Given the description of an element on the screen output the (x, y) to click on. 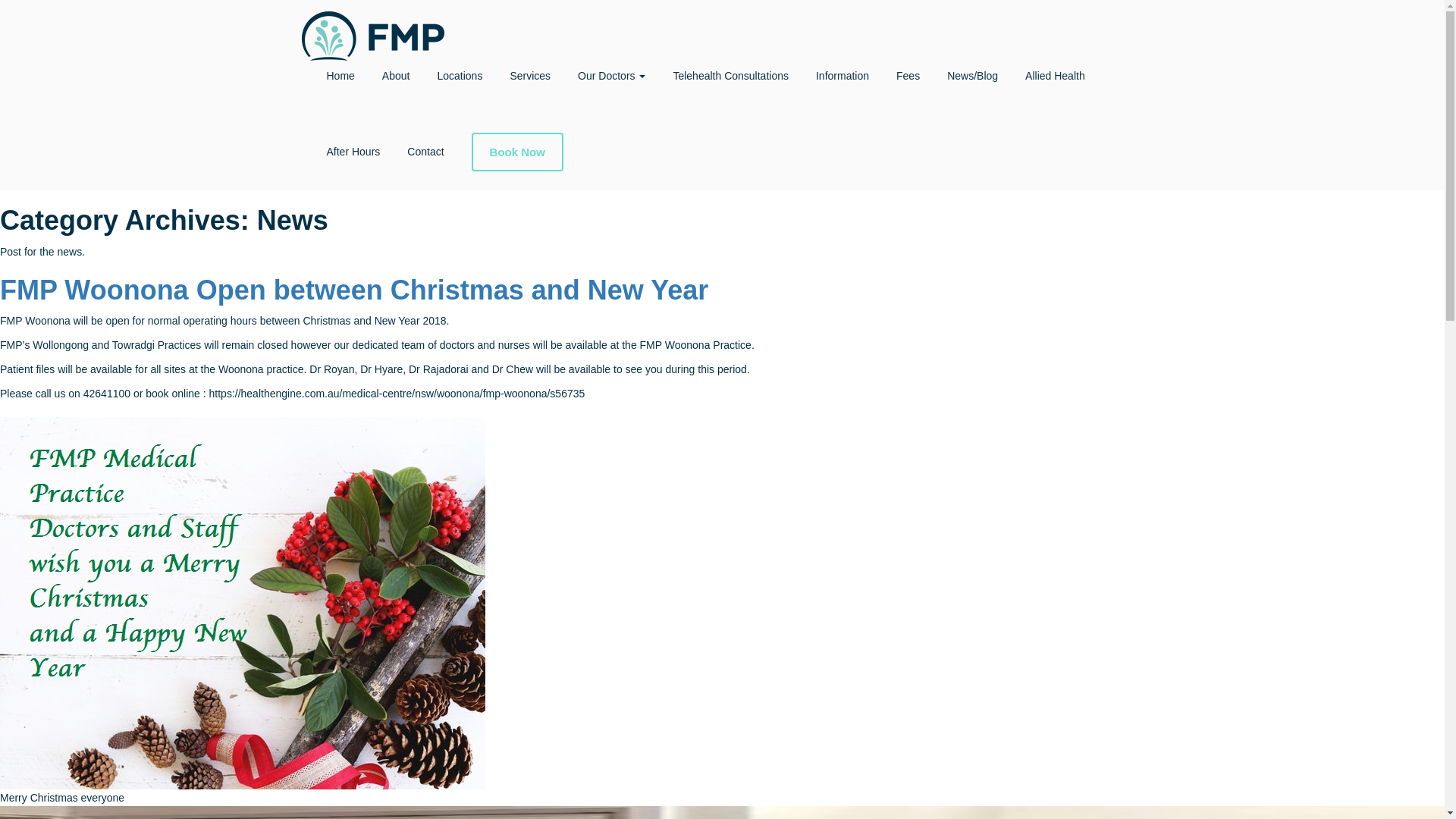
Services (530, 75)
Allied Health (1055, 75)
Locations (459, 75)
FMP Woonona Open between Christmas and New Year (353, 289)
Book Now (517, 151)
Telehealth Consultations (730, 75)
Information (842, 75)
After Hours (353, 151)
FMP (371, 18)
Our Doctors (611, 75)
